Given the description of an element on the screen output the (x, y) to click on. 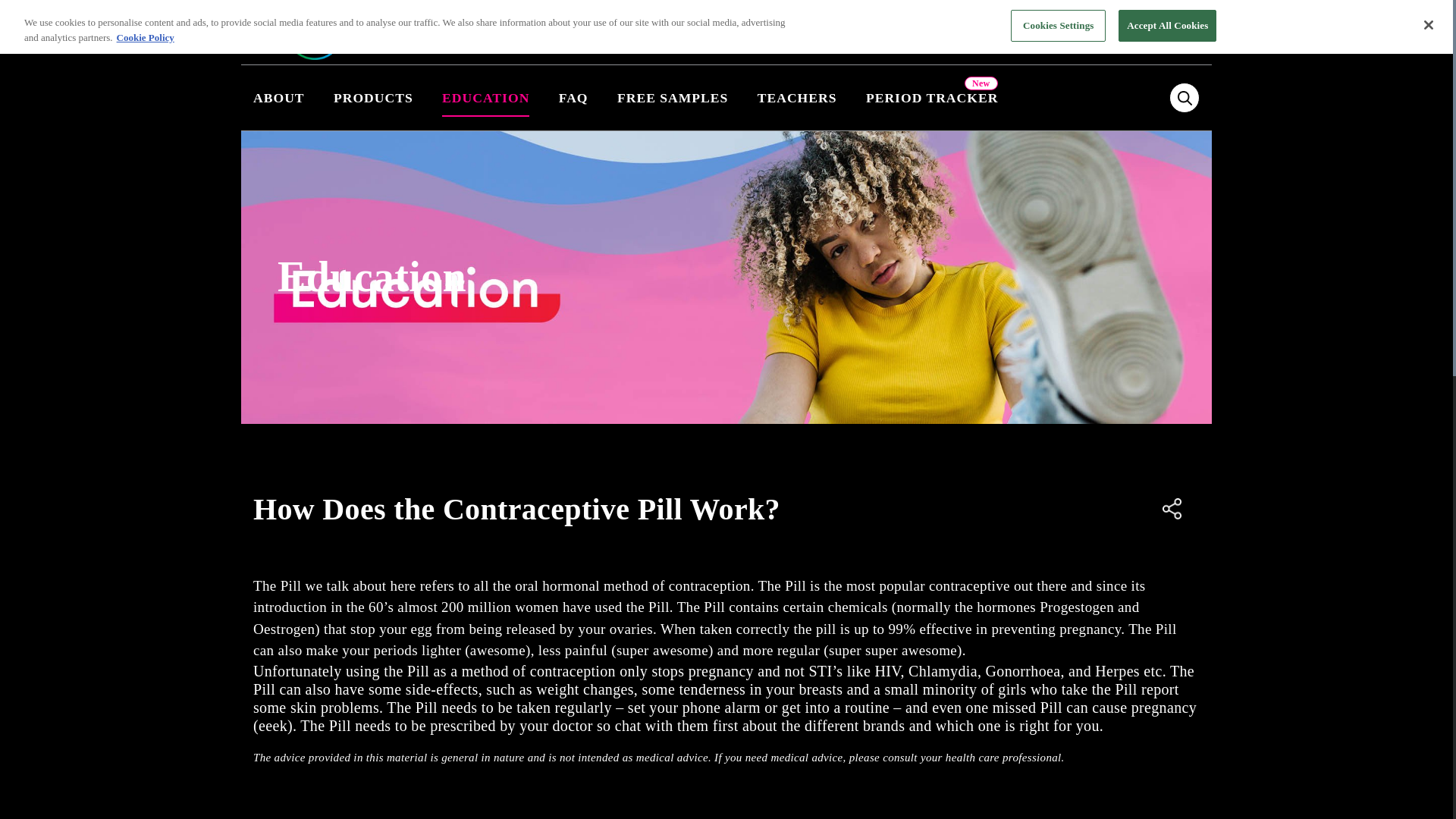
Register (1048, 32)
FREE SAMPLES (672, 97)
PRODUCTS (373, 97)
ABOUT (285, 97)
TEACHERS (796, 97)
PERIOD TRACKER (932, 97)
FAQ (573, 97)
search (1184, 97)
EDUCATION (485, 94)
Login (1109, 32)
